Given the description of an element on the screen output the (x, y) to click on. 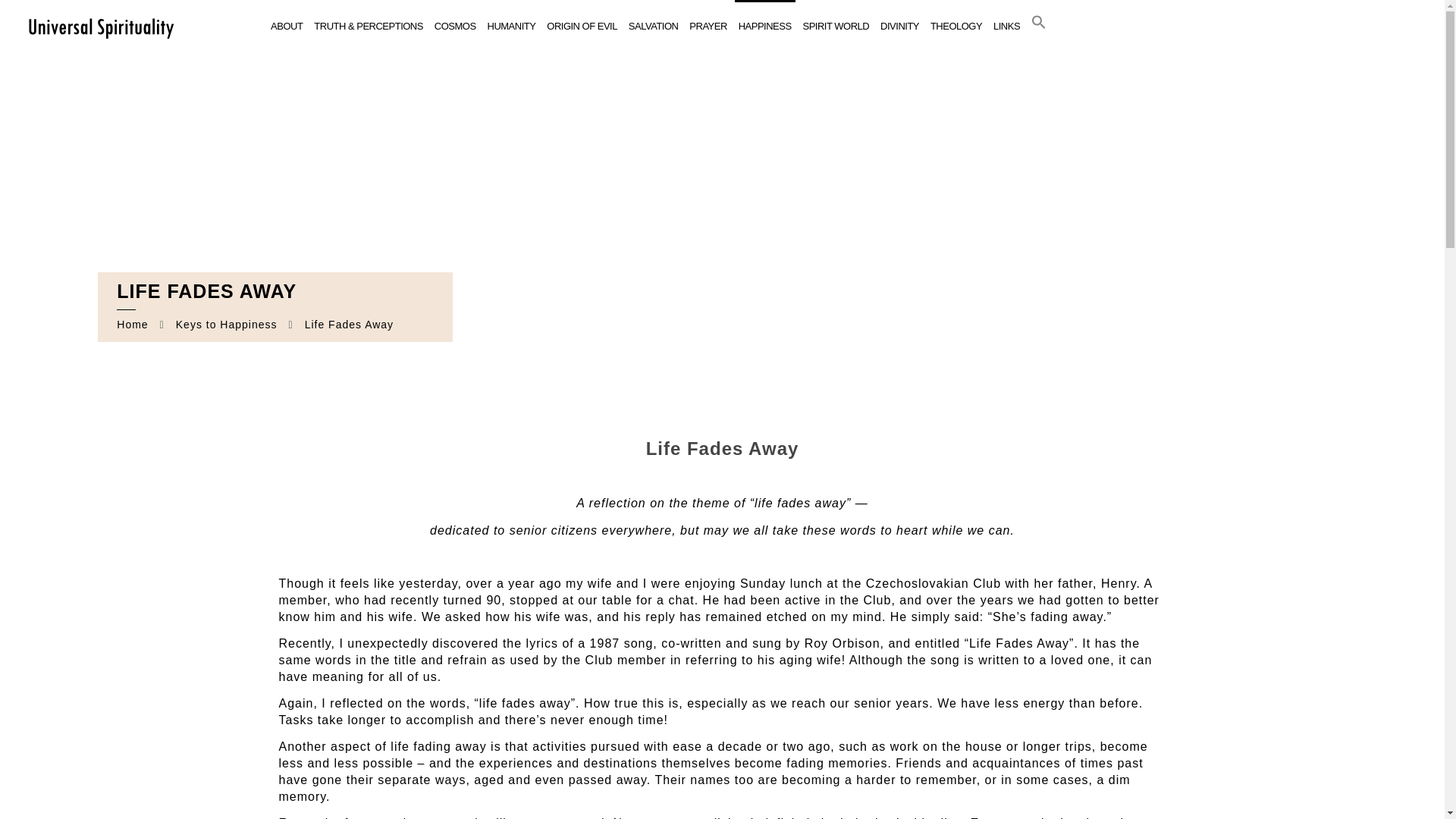
Keys to Happiness (227, 324)
My Spiritual Journey (100, 26)
HUMANITY (511, 26)
COSMOS (455, 26)
